Given the description of an element on the screen output the (x, y) to click on. 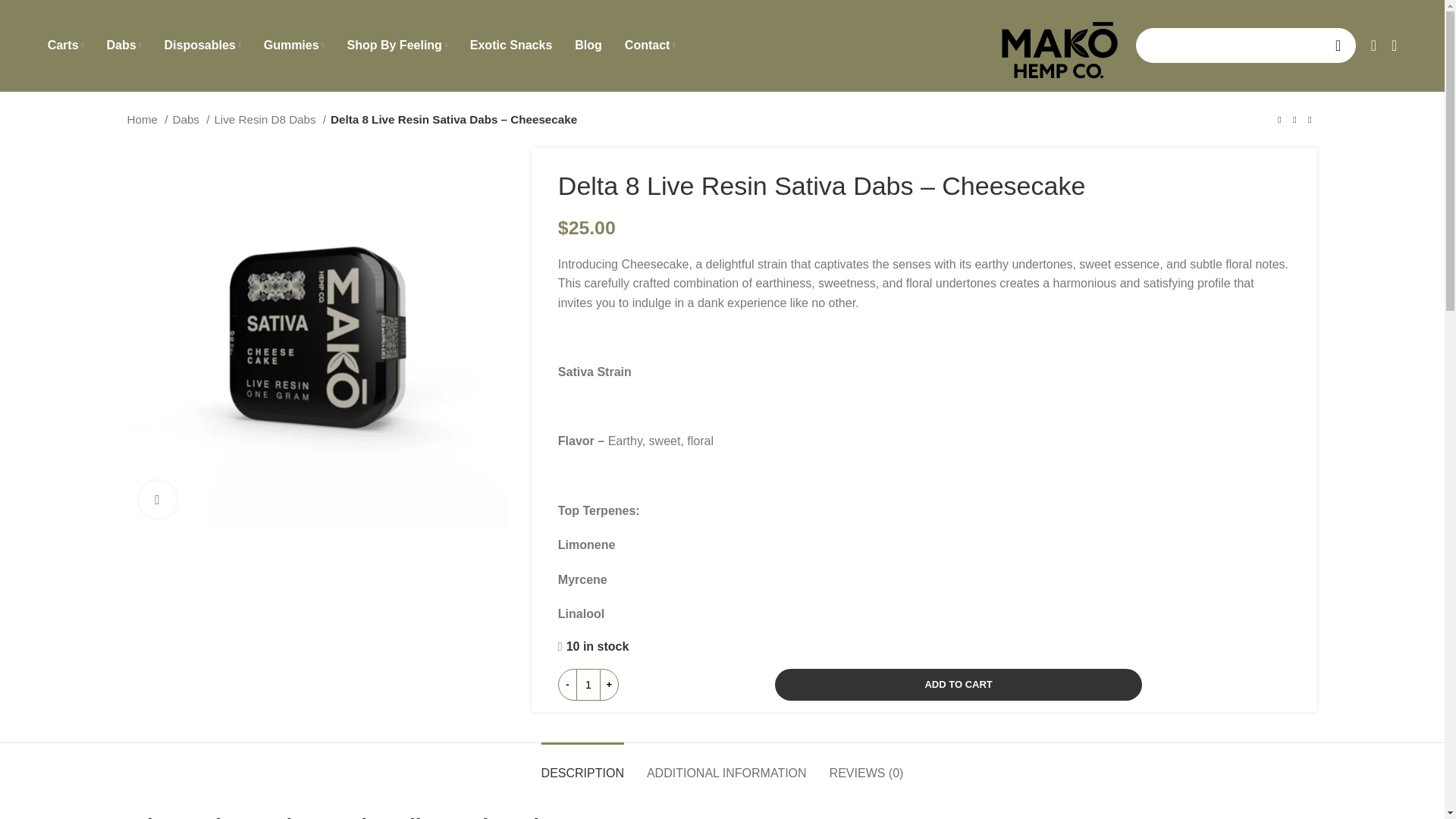
Shop By Feeling (396, 45)
Dabs (123, 45)
Carts (66, 45)
Search for products (1245, 45)
Gummies (293, 45)
Disposables (201, 45)
